Given the description of an element on the screen output the (x, y) to click on. 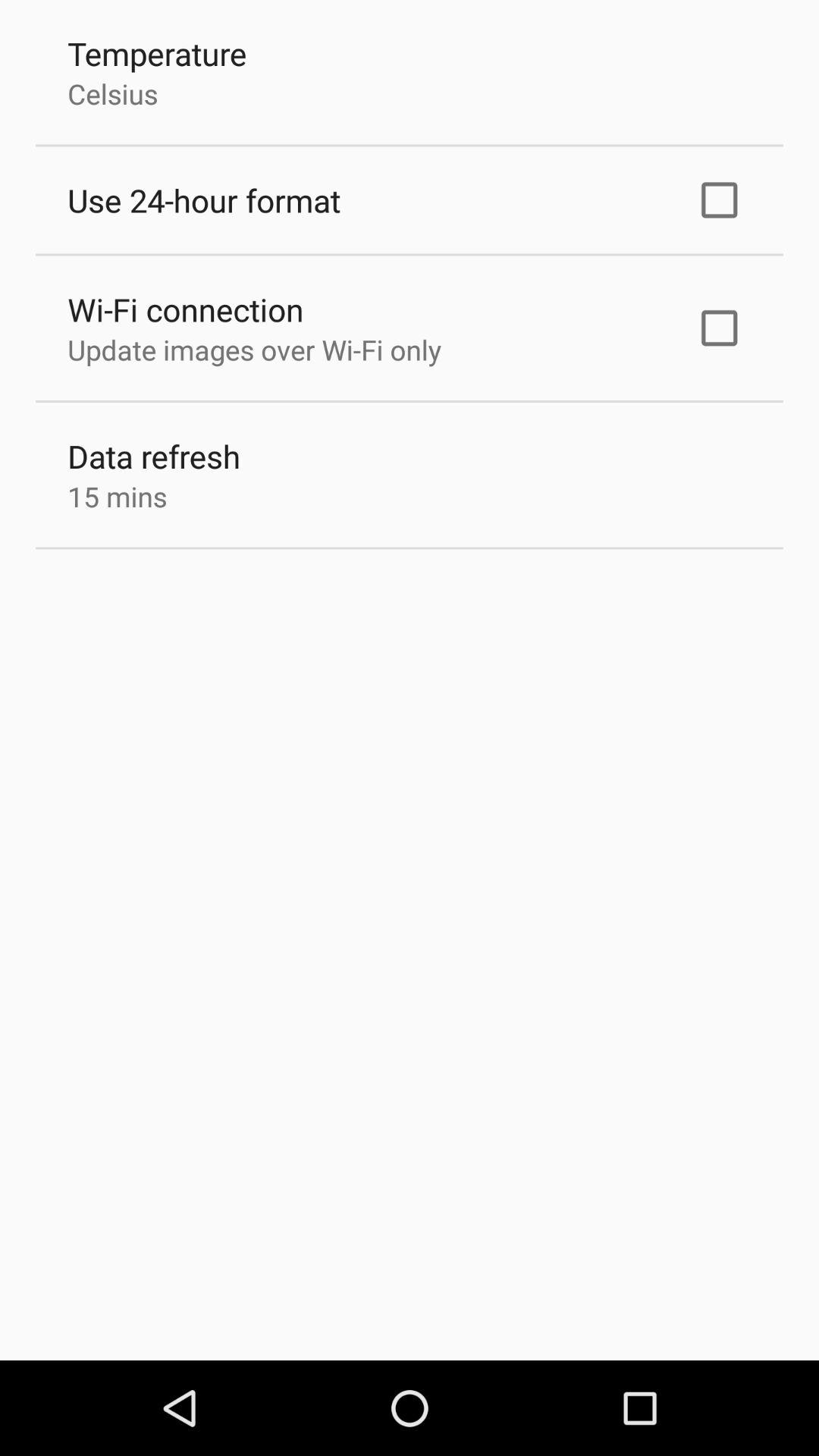
open the item above the celsius item (156, 53)
